Given the description of an element on the screen output the (x, y) to click on. 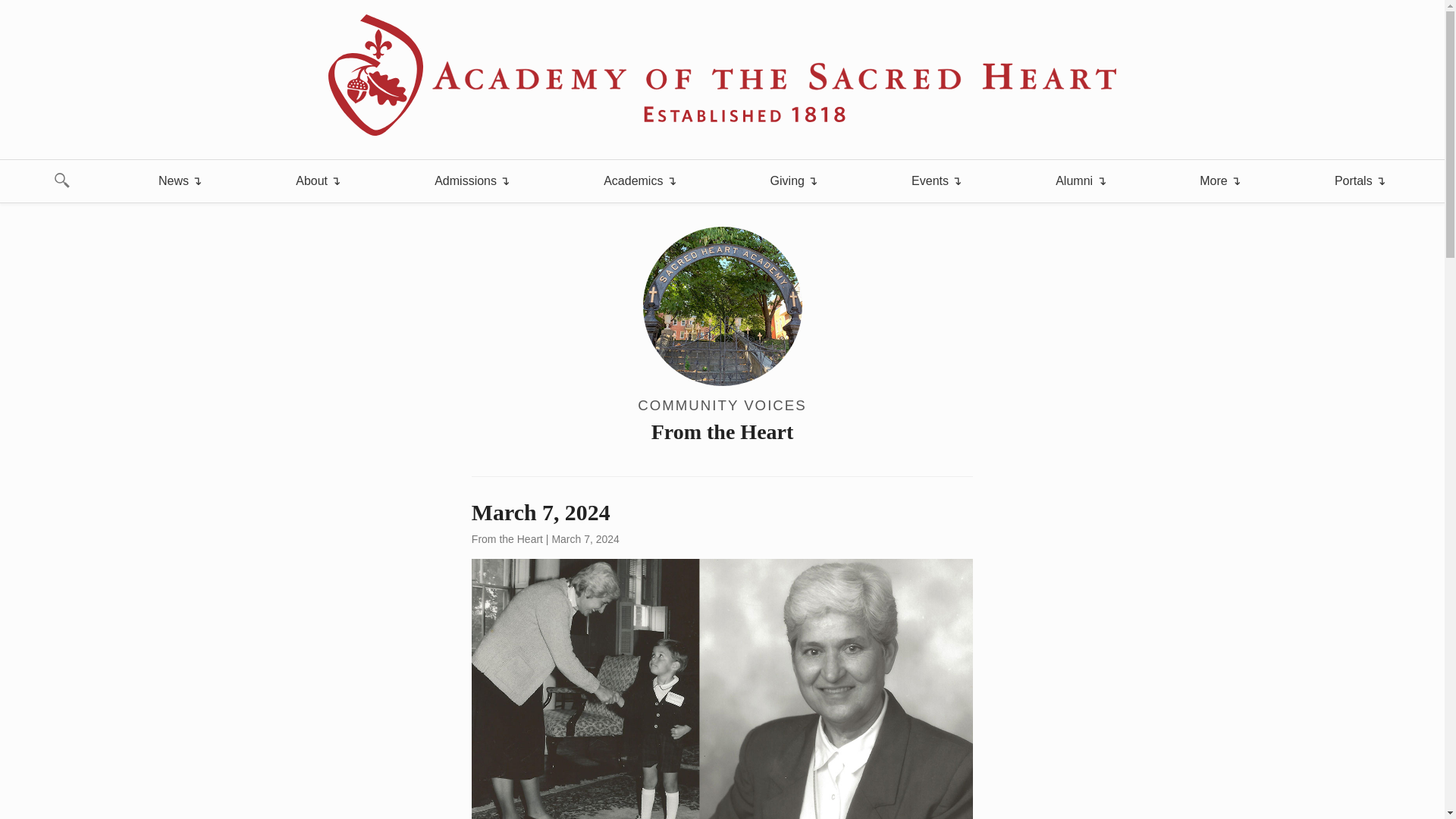
Search (21, 7)
Academy of the Sacred Heart (721, 74)
From the Heart, Community Voices (721, 336)
